Given the description of an element on the screen output the (x, y) to click on. 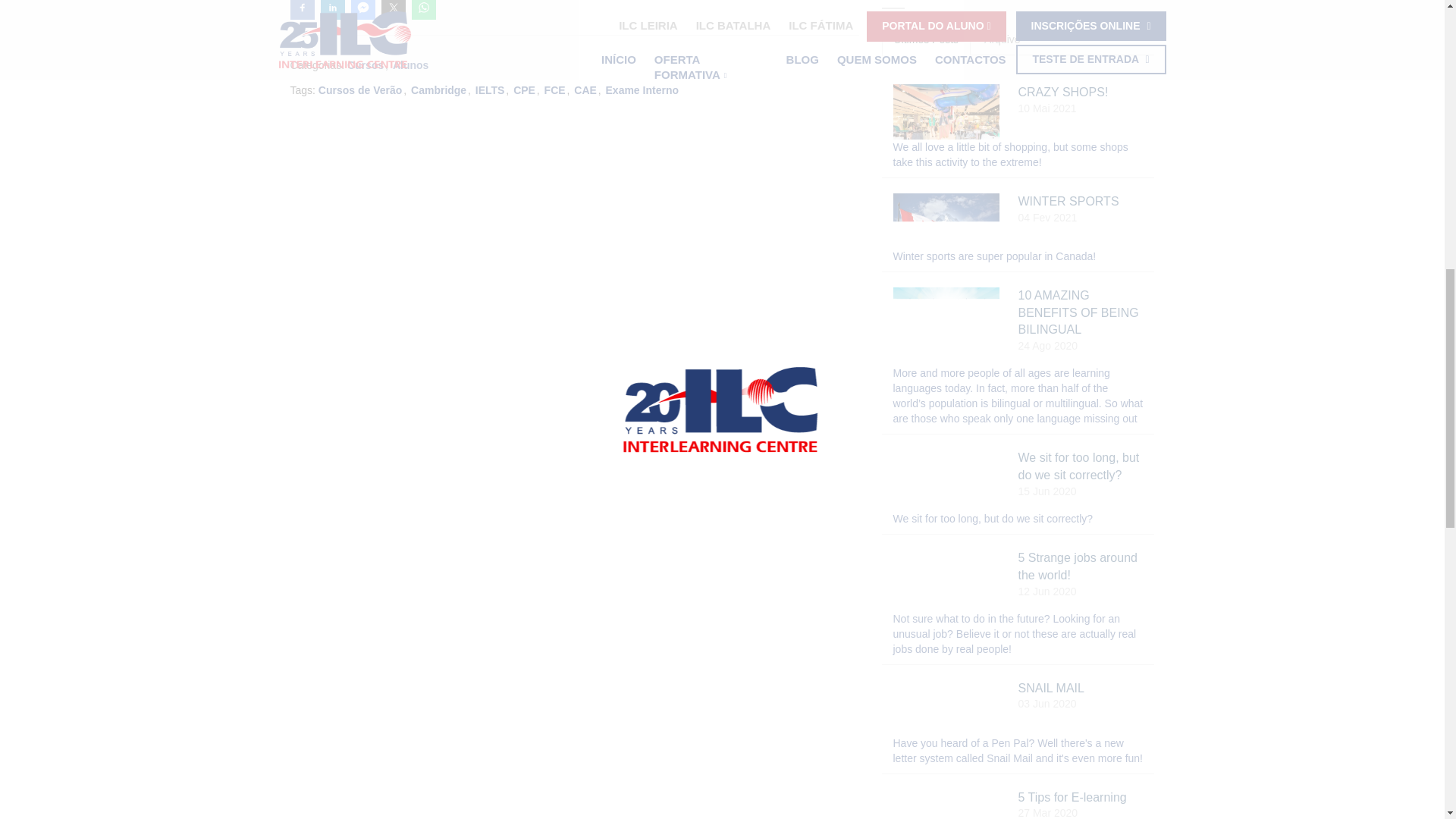
CPE (524, 89)
FCE (555, 89)
IELTS (490, 89)
Cursos (365, 65)
Alunos (410, 65)
CAE (584, 89)
Exame Interno (641, 89)
Cambridge (437, 89)
